Given the description of an element on the screen output the (x, y) to click on. 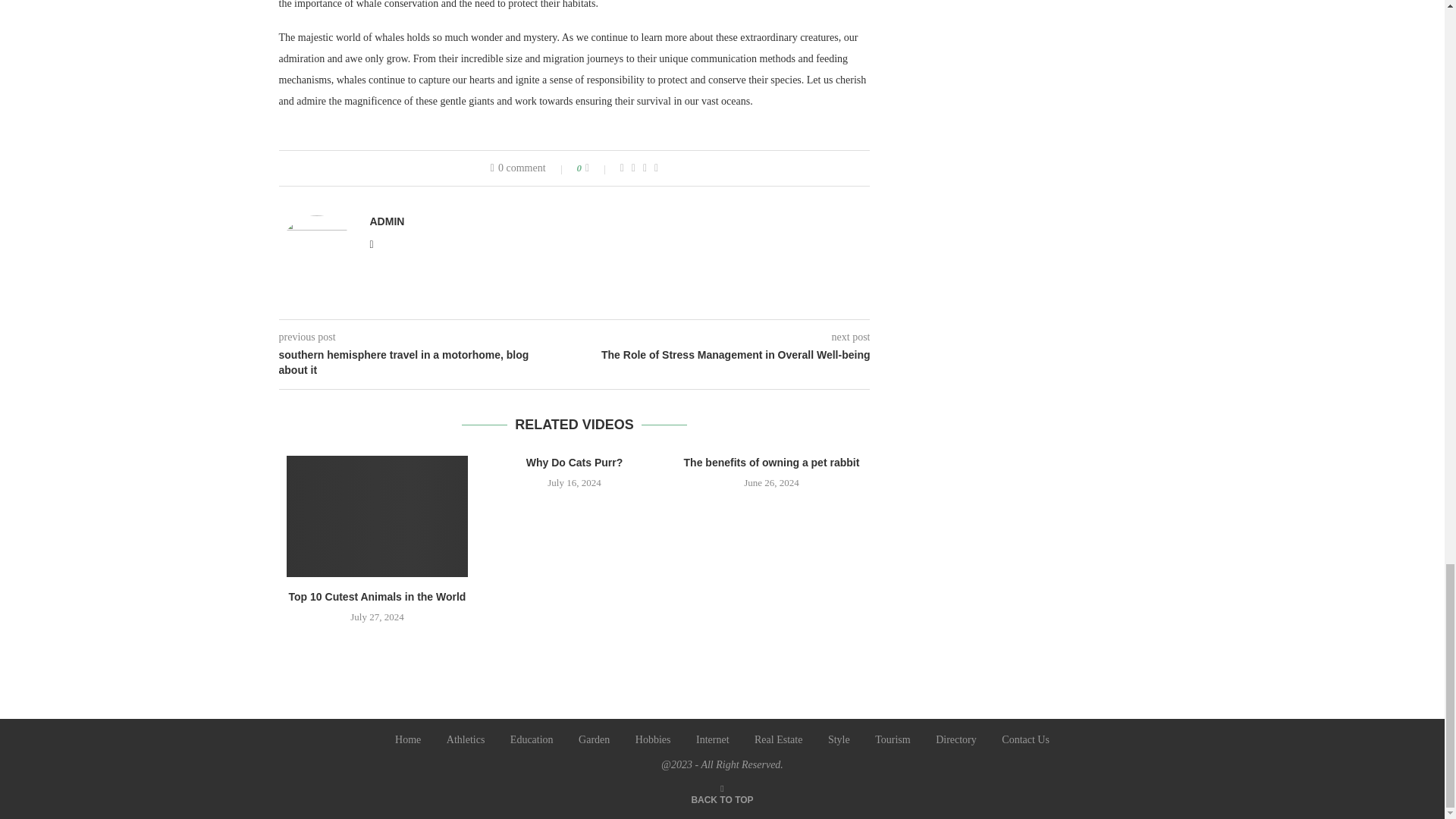
ADMIN (386, 221)
Like (597, 168)
Author admin (386, 221)
Top 10 Cutest Animals in the World (377, 516)
